Given the description of an element on the screen output the (x, y) to click on. 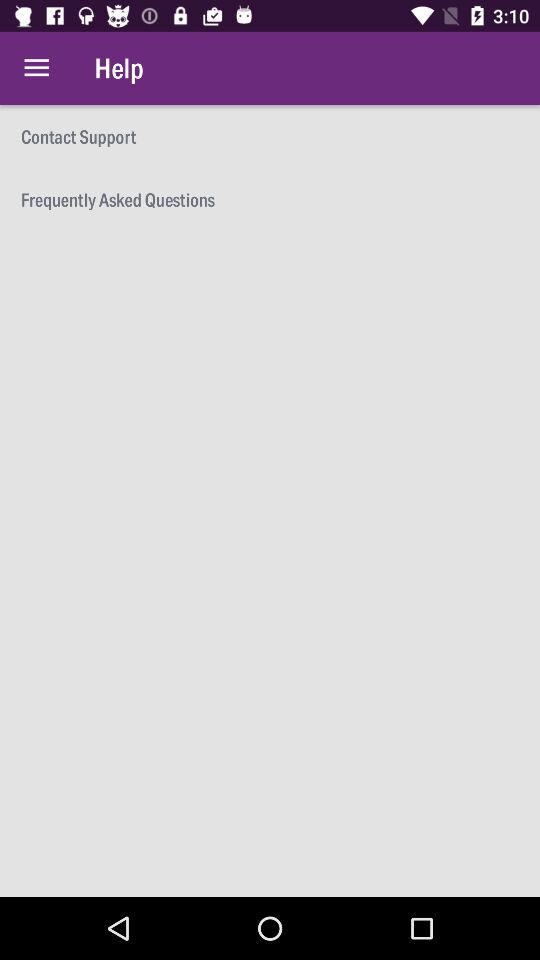
choose contact support item (270, 136)
